Given the description of an element on the screen output the (x, y) to click on. 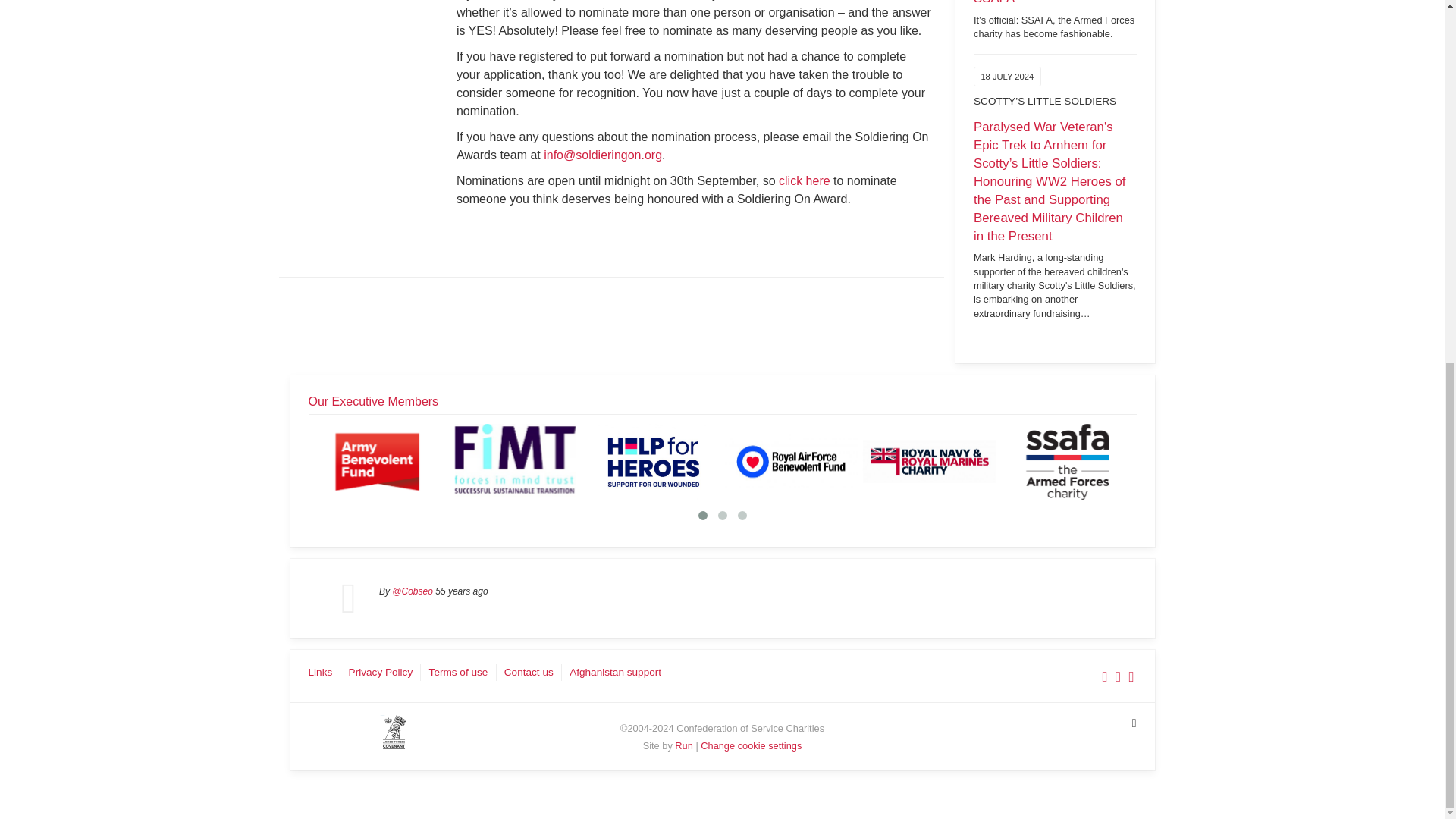
Army Benevolent Fund (377, 461)
Help for Heroes (653, 461)
Forces in Mind Trust (515, 461)
RAF Benevolent Fund (792, 461)
Royal Navy and Royal Marines Charity (929, 461)
SSAFA (1067, 461)
